Given the description of an element on the screen output the (x, y) to click on. 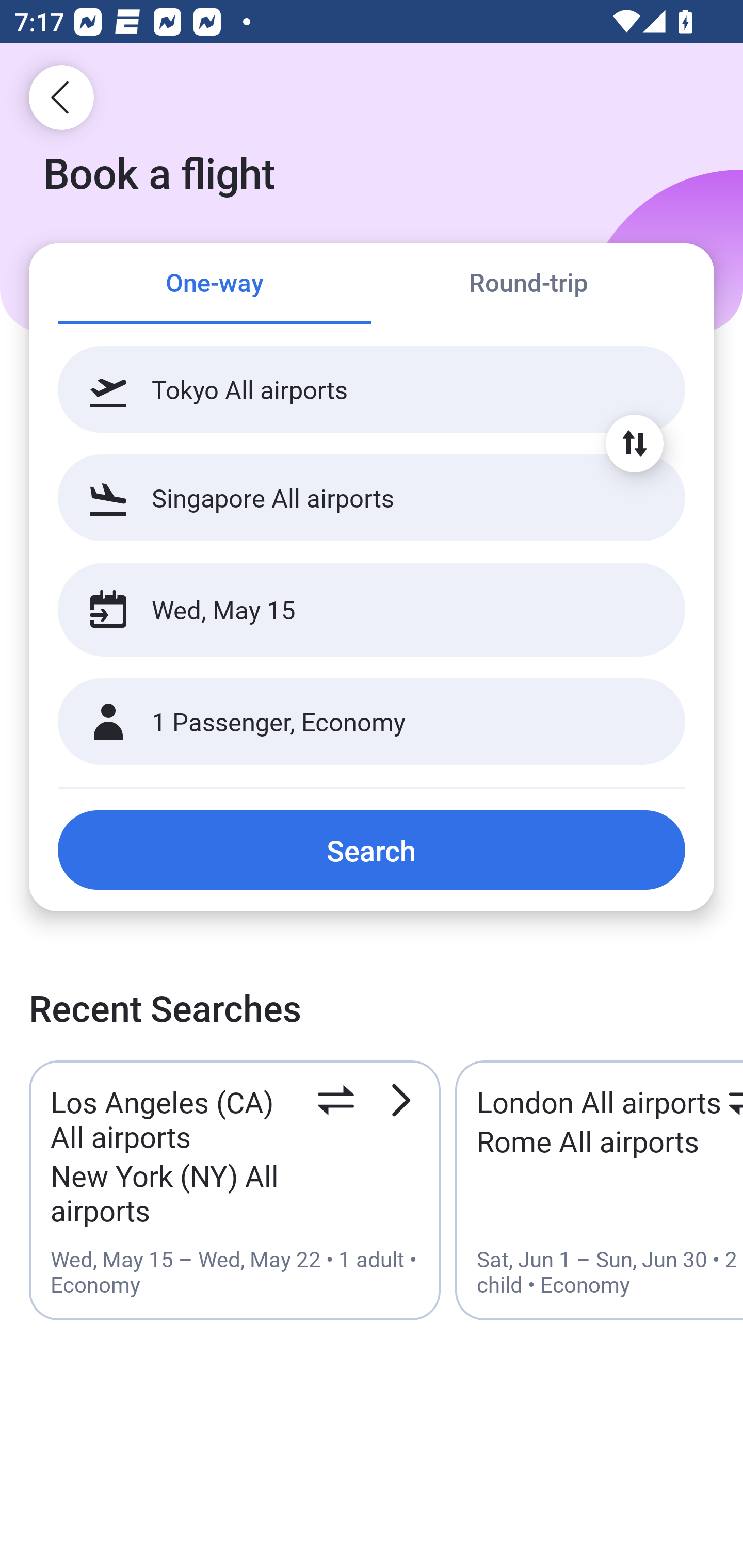
Round-trip (528, 284)
Tokyo All airports (371, 389)
Singapore All airports (371, 497)
Wed, May 15 (349, 609)
1 Passenger, Economy (371, 721)
Search (371, 849)
